Given the description of an element on the screen output the (x, y) to click on. 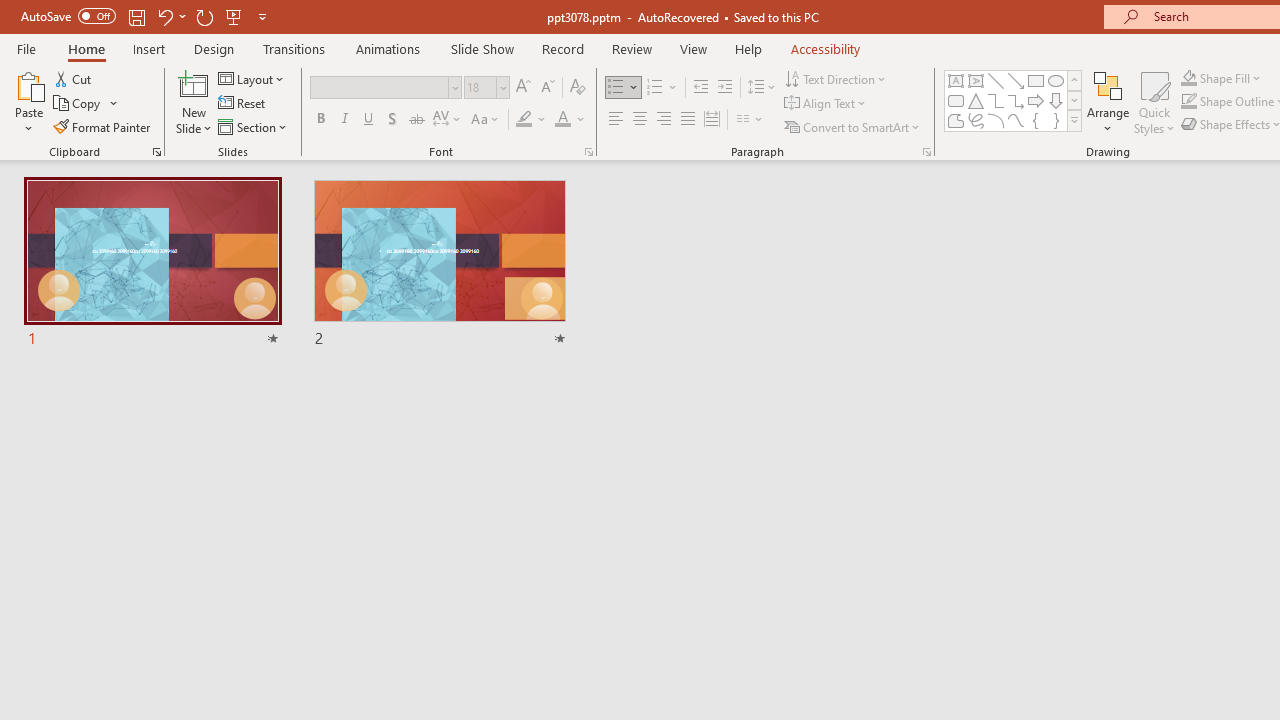
Connector: Elbow (995, 100)
Text Highlight Color (531, 119)
Distributed (712, 119)
Arc (995, 120)
Shadow (392, 119)
Italic (344, 119)
Layout (252, 78)
Align Left (616, 119)
